Given the description of an element on the screen output the (x, y) to click on. 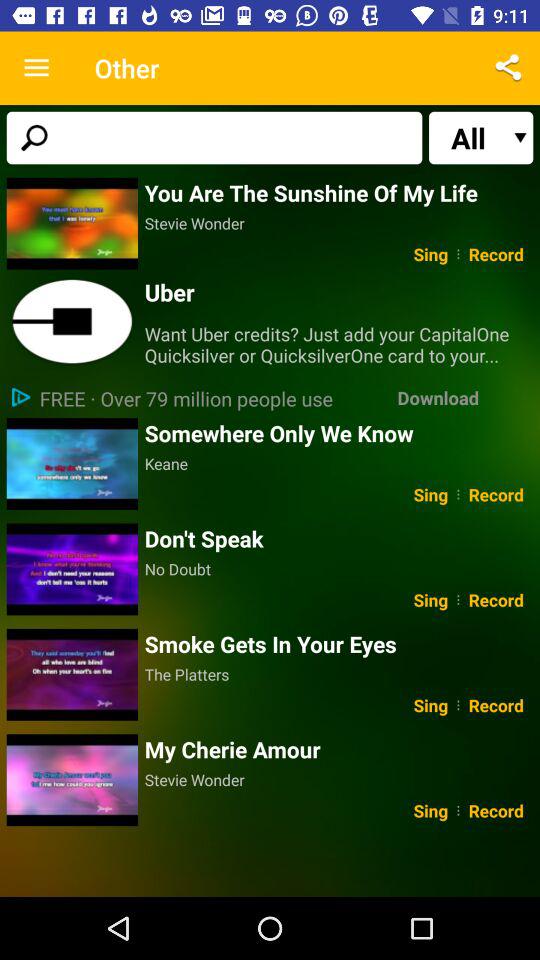
opens uber app (72, 322)
